Given the description of an element on the screen output the (x, y) to click on. 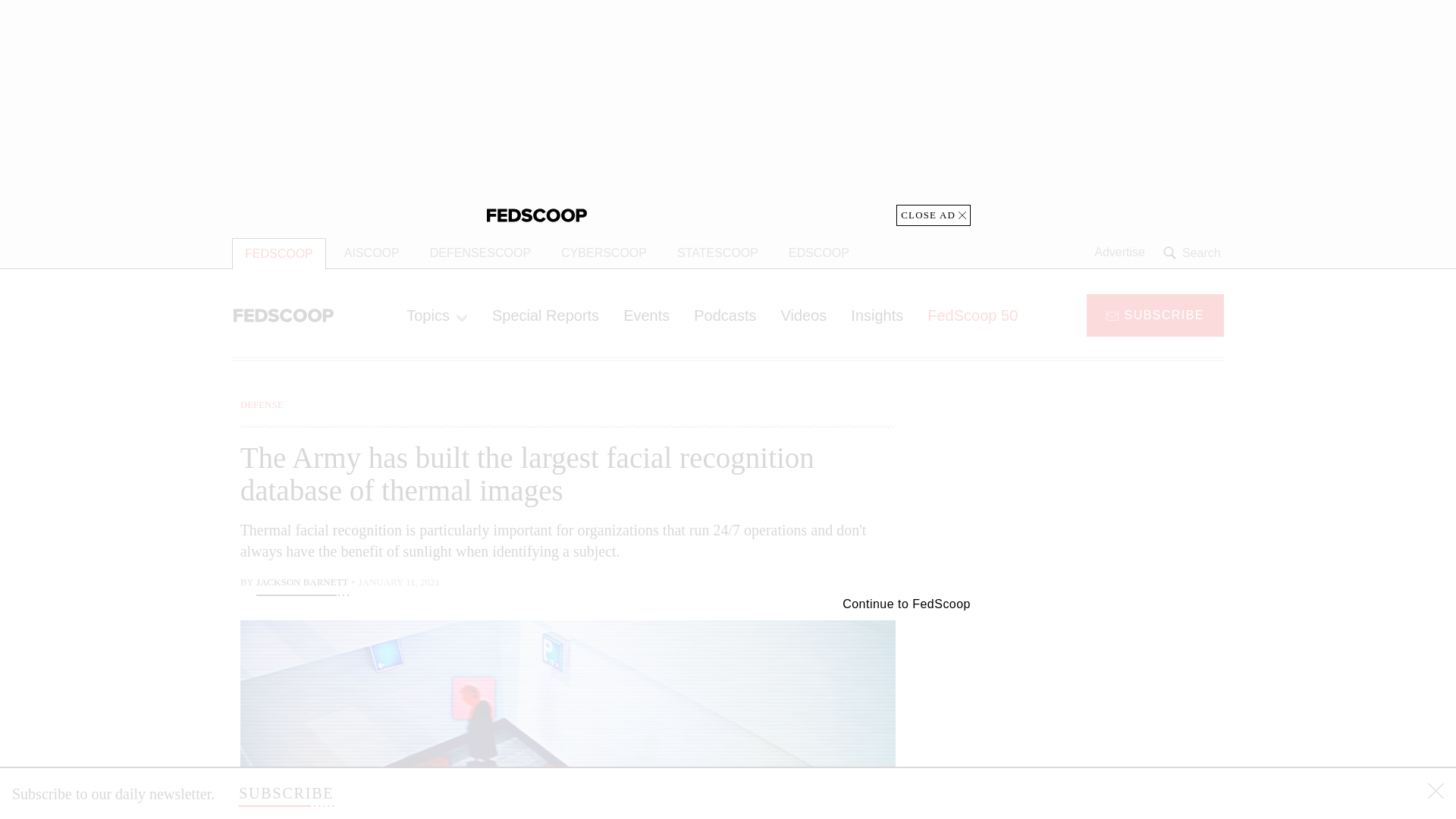
Jackson Barnett (302, 583)
FEDSCOOP (278, 253)
3rd party ad content (1101, 492)
CYBERSCOOP (603, 253)
Search (1193, 252)
Advertise (1119, 252)
SUBSCRIBE (285, 793)
AISCOOP (371, 253)
Events (646, 315)
